Given the description of an element on the screen output the (x, y) to click on. 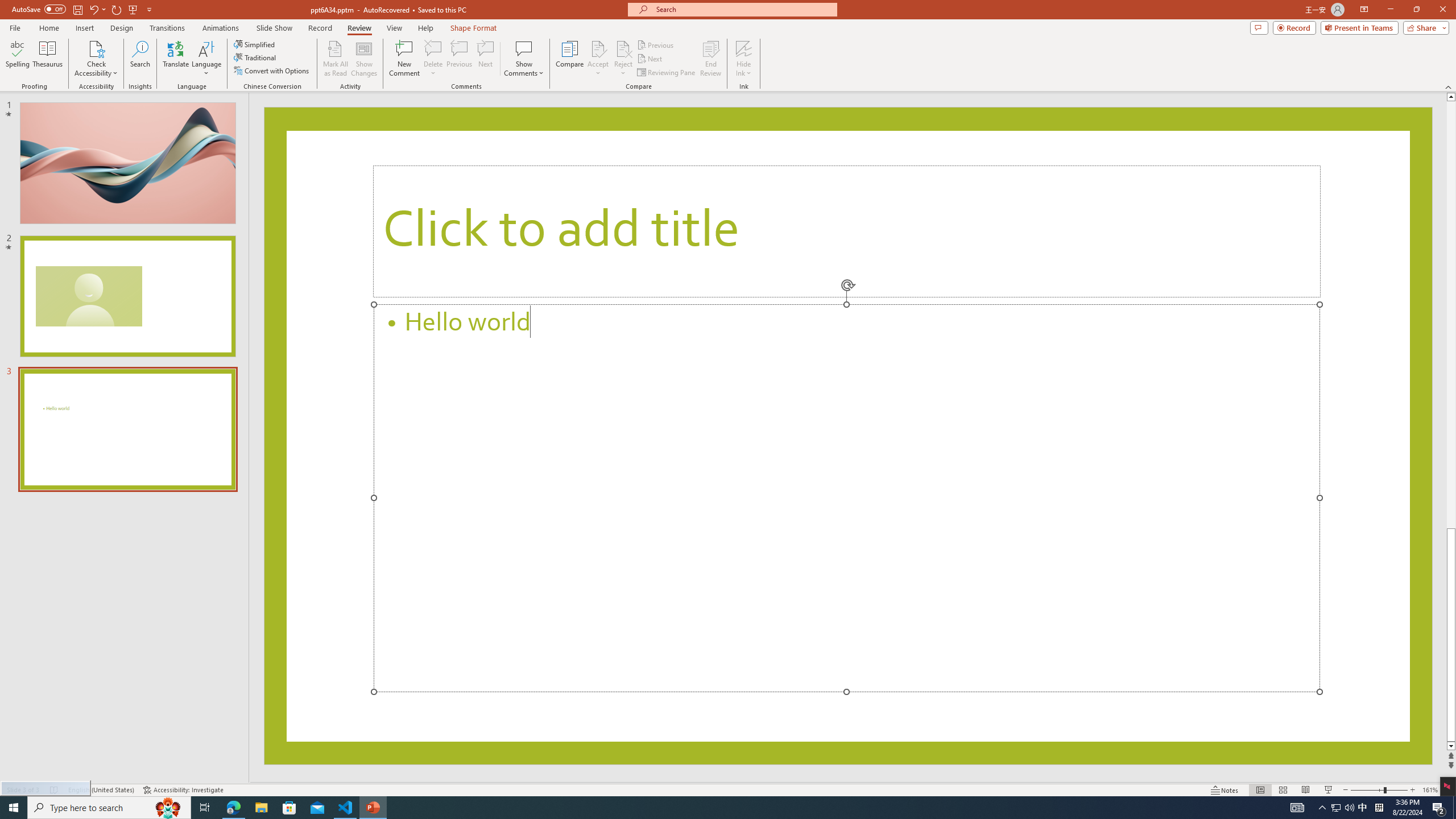
New Comment (403, 58)
Present in Teams (1359, 27)
Zoom 161% (1430, 790)
Save (77, 9)
Accept (598, 58)
Mark All as Read (335, 58)
Review (359, 28)
Simplified (254, 44)
Traditional (255, 56)
Minimize (1390, 9)
Show Comments (524, 48)
Zoom to Fit  (1449, 790)
Help (425, 28)
Check Accessibility (95, 58)
